Given the description of an element on the screen output the (x, y) to click on. 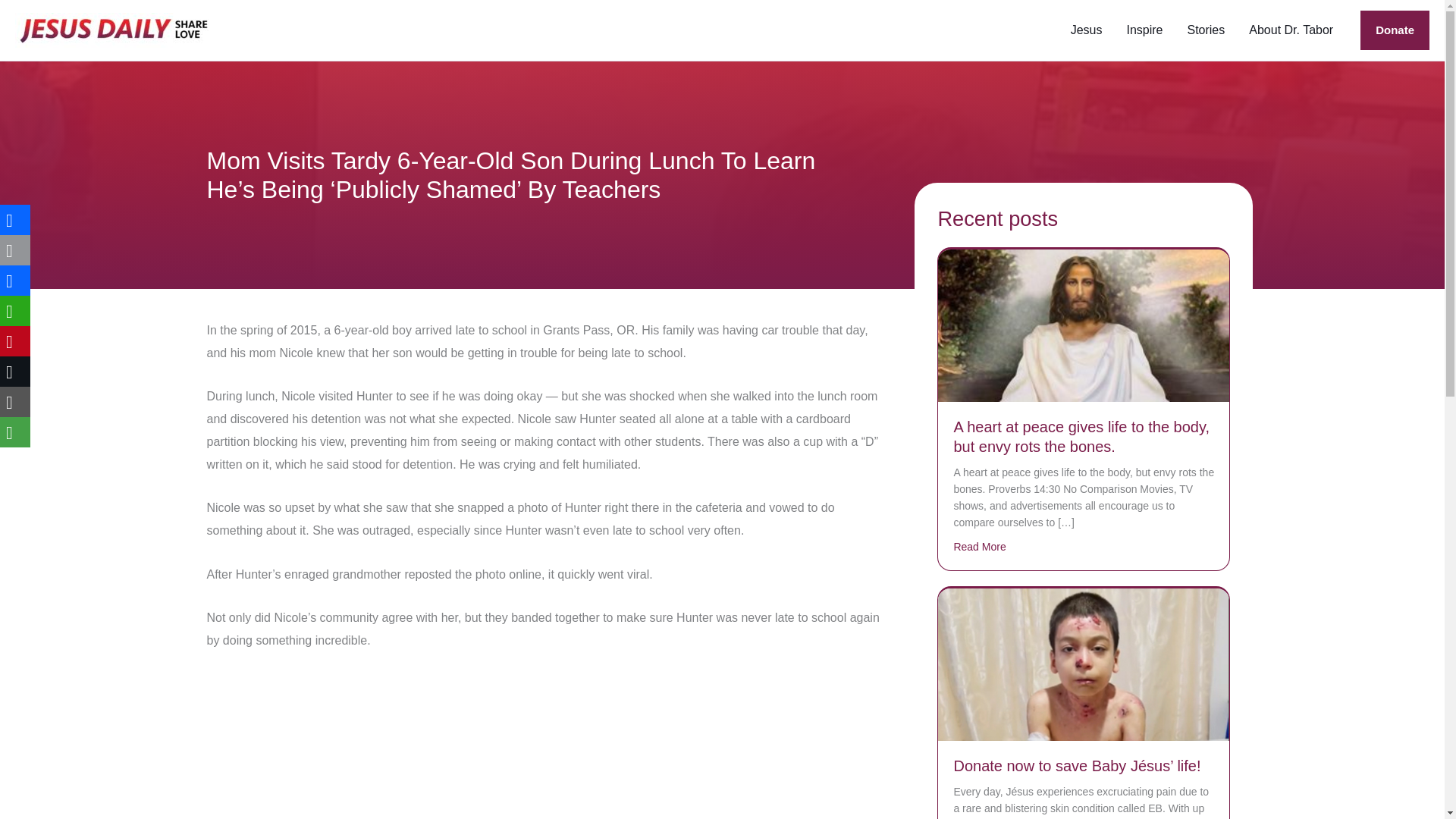
Stories (1205, 30)
Read More (979, 546)
Donate (1394, 29)
About Dr. Tabor (1290, 30)
Inspire (1143, 30)
Jesus (1086, 30)
